Given the description of an element on the screen output the (x, y) to click on. 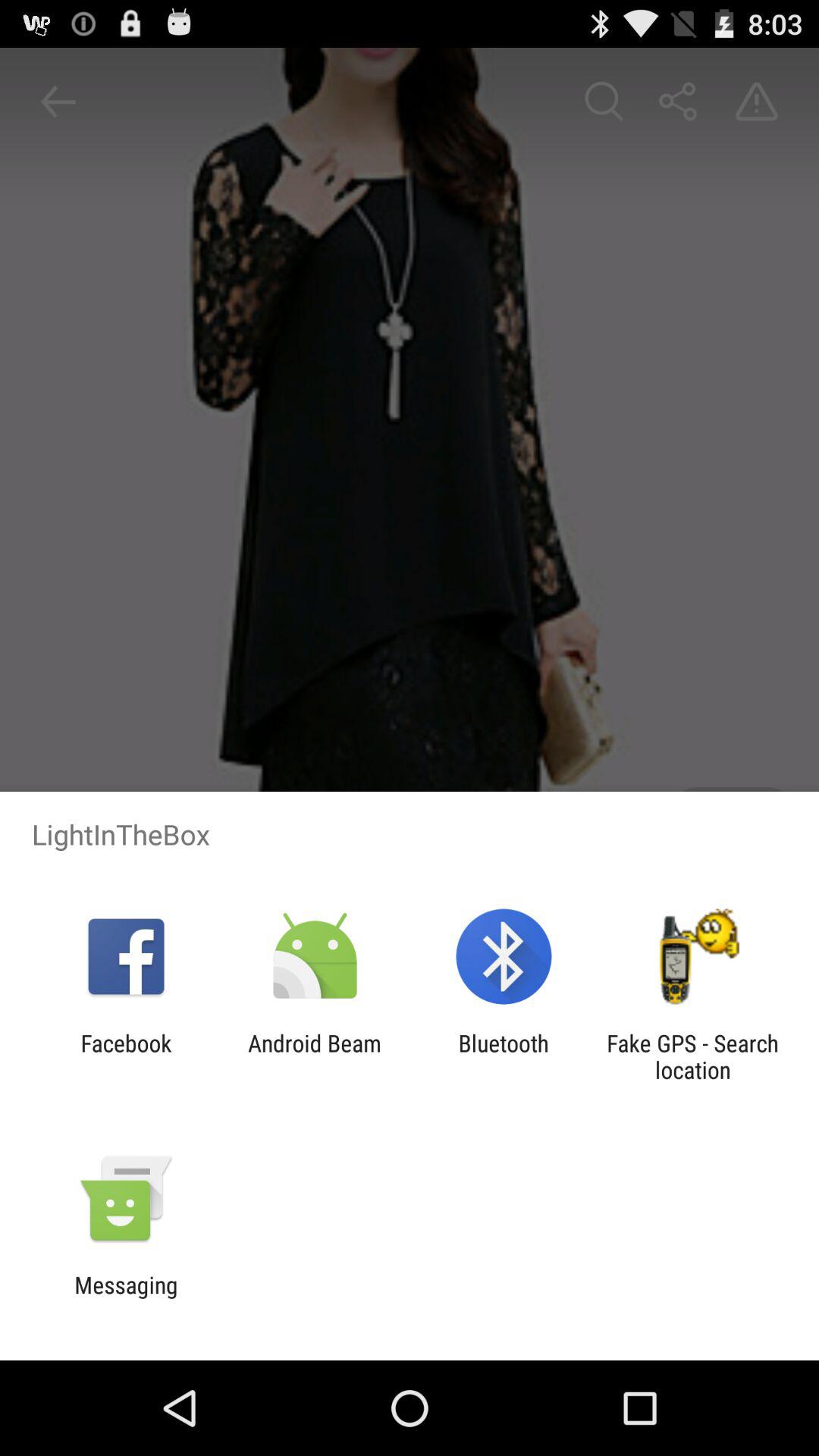
jump to facebook app (125, 1056)
